Given the description of an element on the screen output the (x, y) to click on. 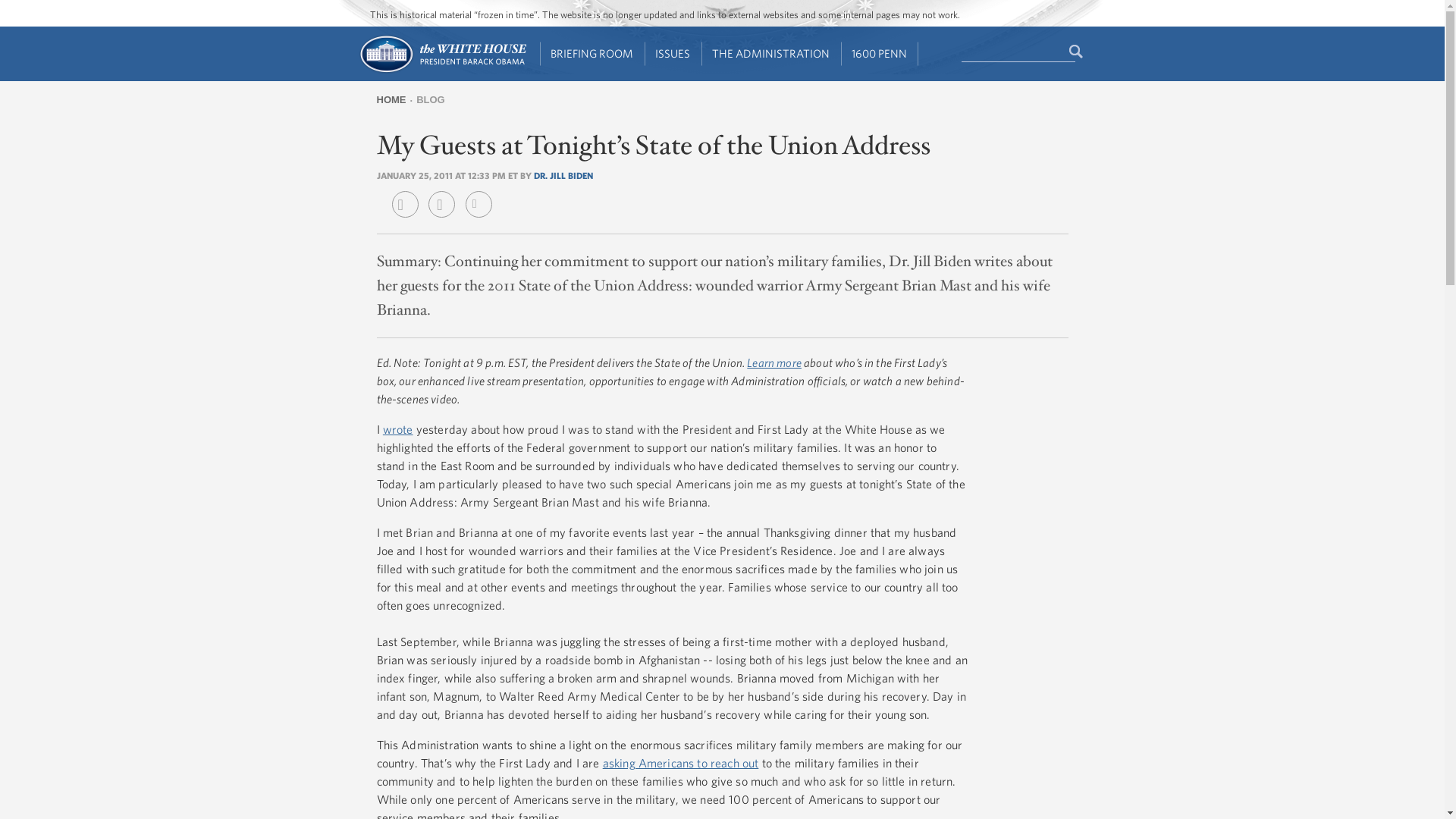
Enter the terms you wish to search for. (1017, 52)
Home (441, 70)
BRIEFING ROOM (592, 53)
ISSUES (673, 53)
Search (1076, 51)
